Given the description of an element on the screen output the (x, y) to click on. 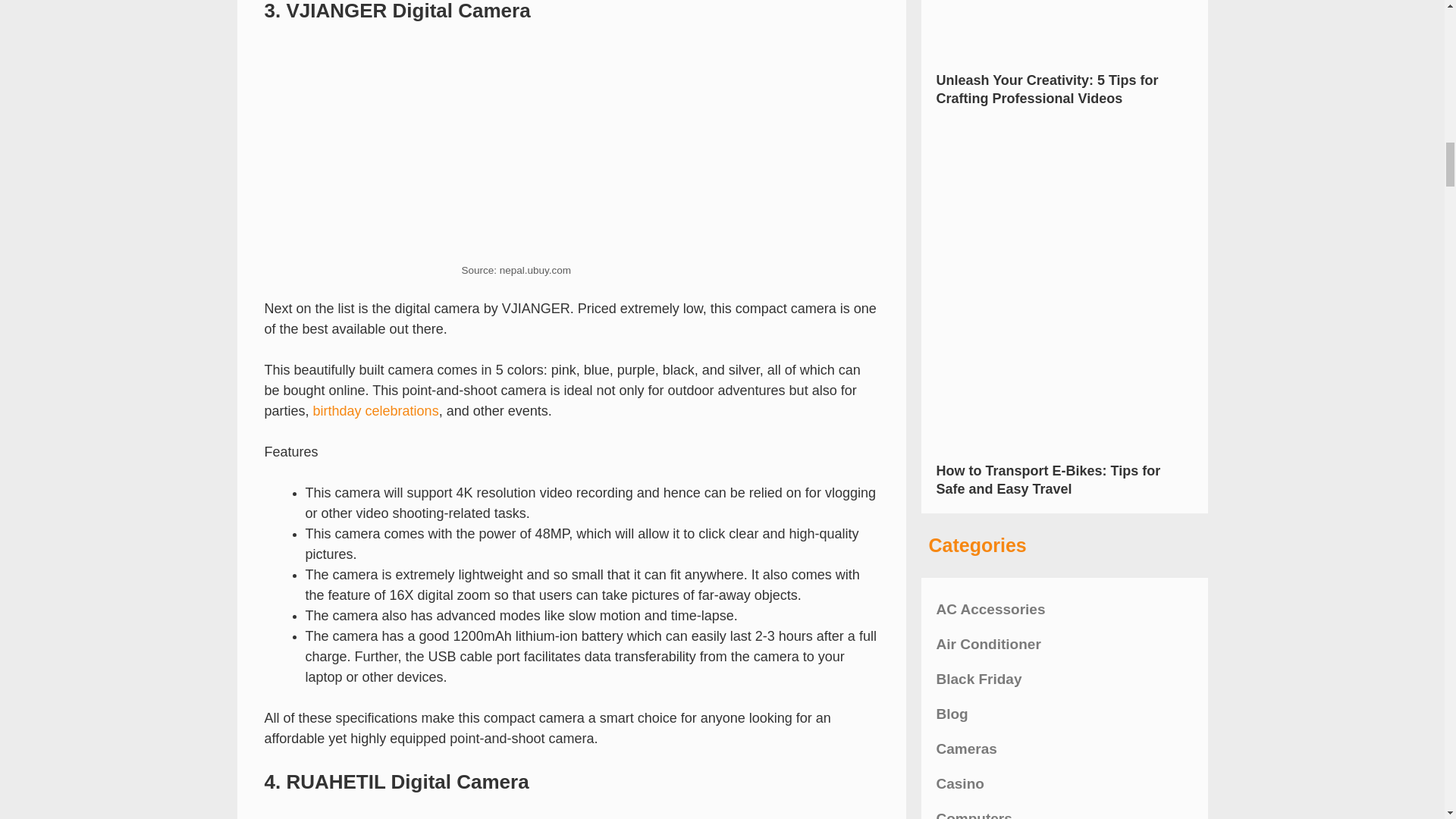
birthday celebrations (376, 410)
